Given the description of an element on the screen output the (x, y) to click on. 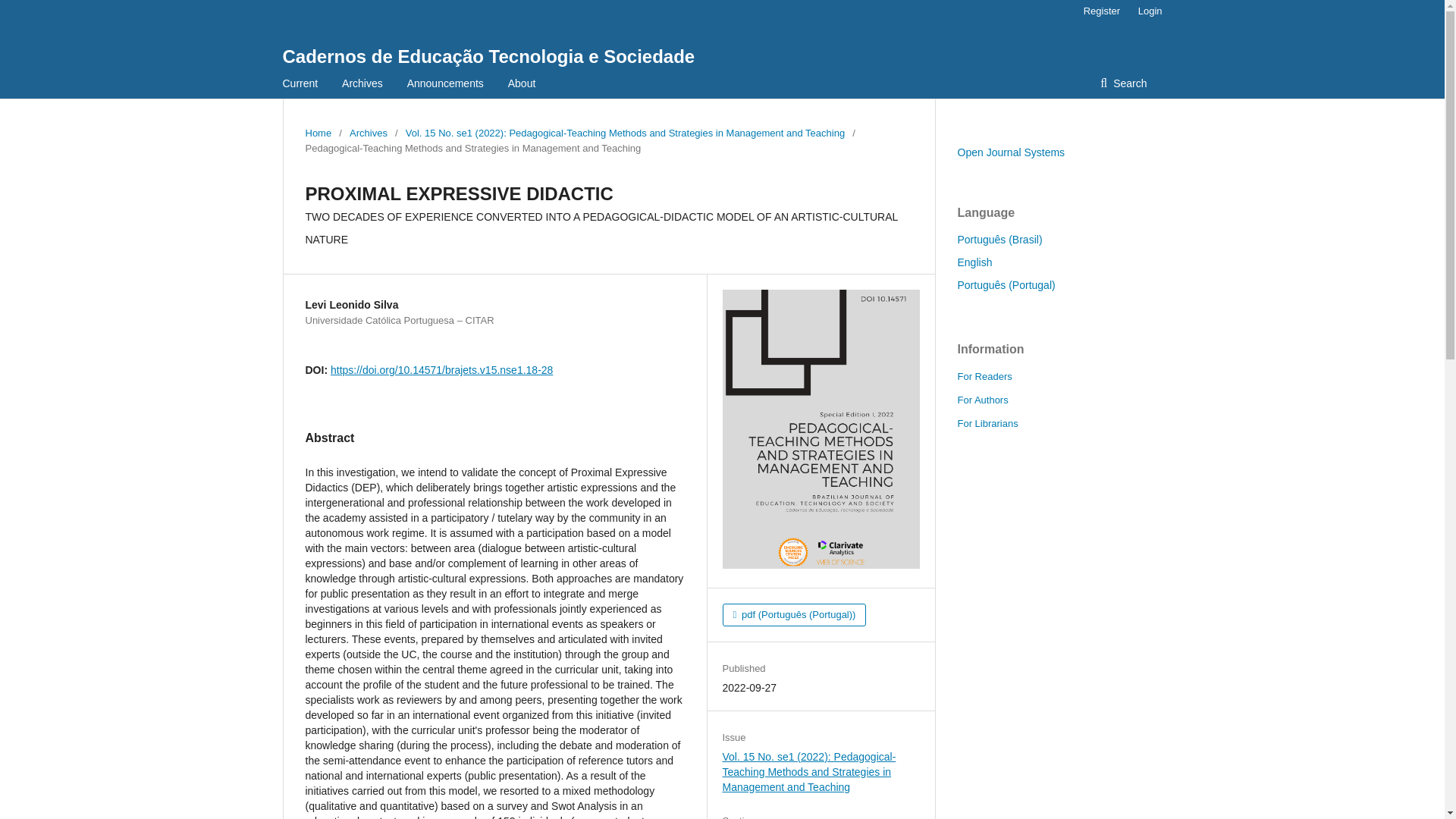
Home (317, 133)
English (973, 262)
Register (1100, 11)
About (521, 82)
Search (1122, 82)
Login (1146, 11)
Archives (362, 82)
Announcements (445, 82)
Archives (368, 133)
Open Journal Systems (1010, 152)
Current (299, 82)
